Given the description of an element on the screen output the (x, y) to click on. 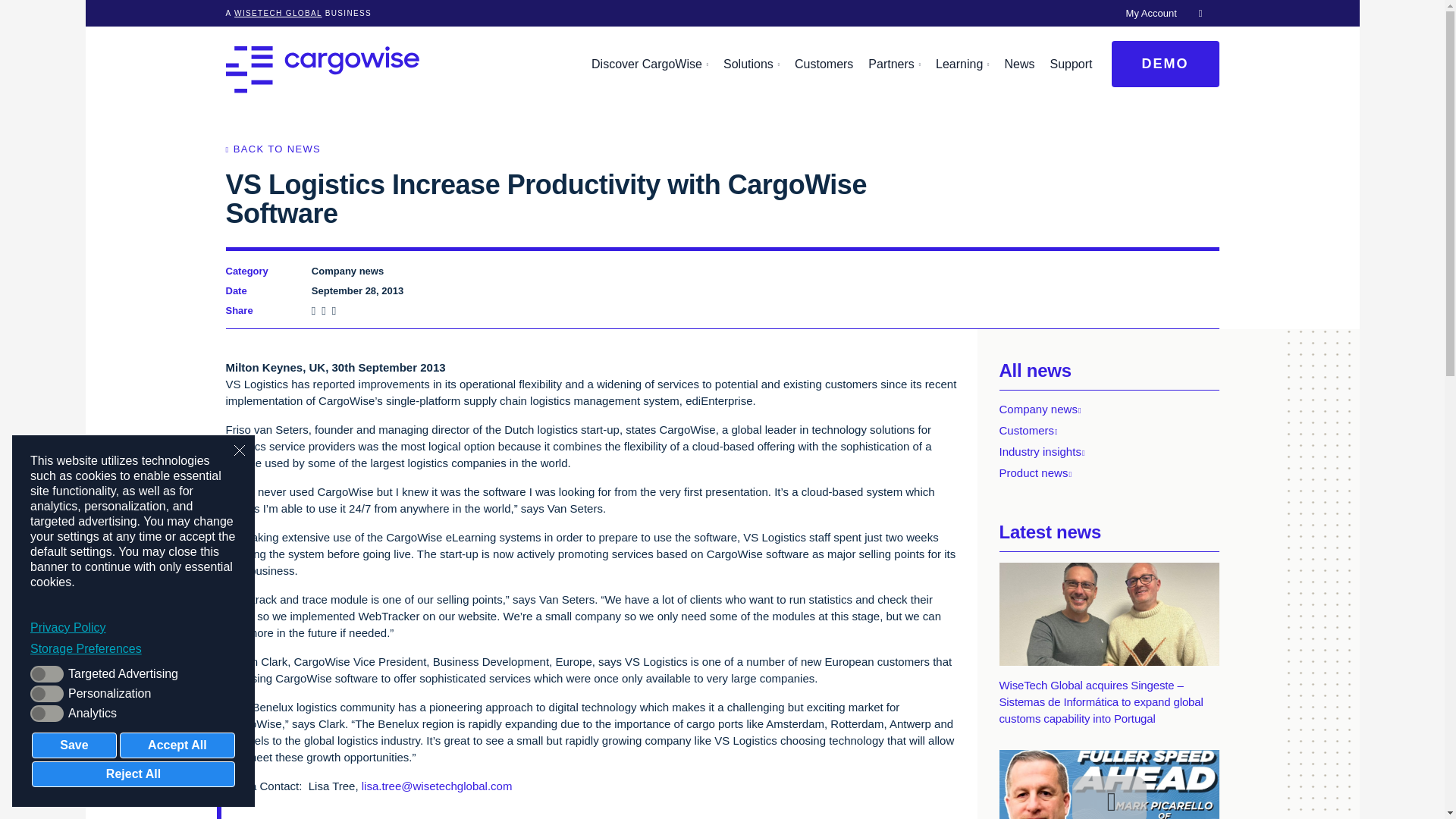
WiseTech Global (277, 13)
Storage Preferences (132, 648)
Privacy Policy (132, 627)
Reject All (133, 774)
DEMO (1166, 63)
Discover CargoWise (649, 64)
Learning (961, 64)
Solutions (751, 64)
Accept All (176, 745)
Save (74, 745)
CargoWise (322, 69)
Customers (823, 63)
Partners (894, 64)
WISETECH GLOBAL (277, 13)
